Given the description of an element on the screen output the (x, y) to click on. 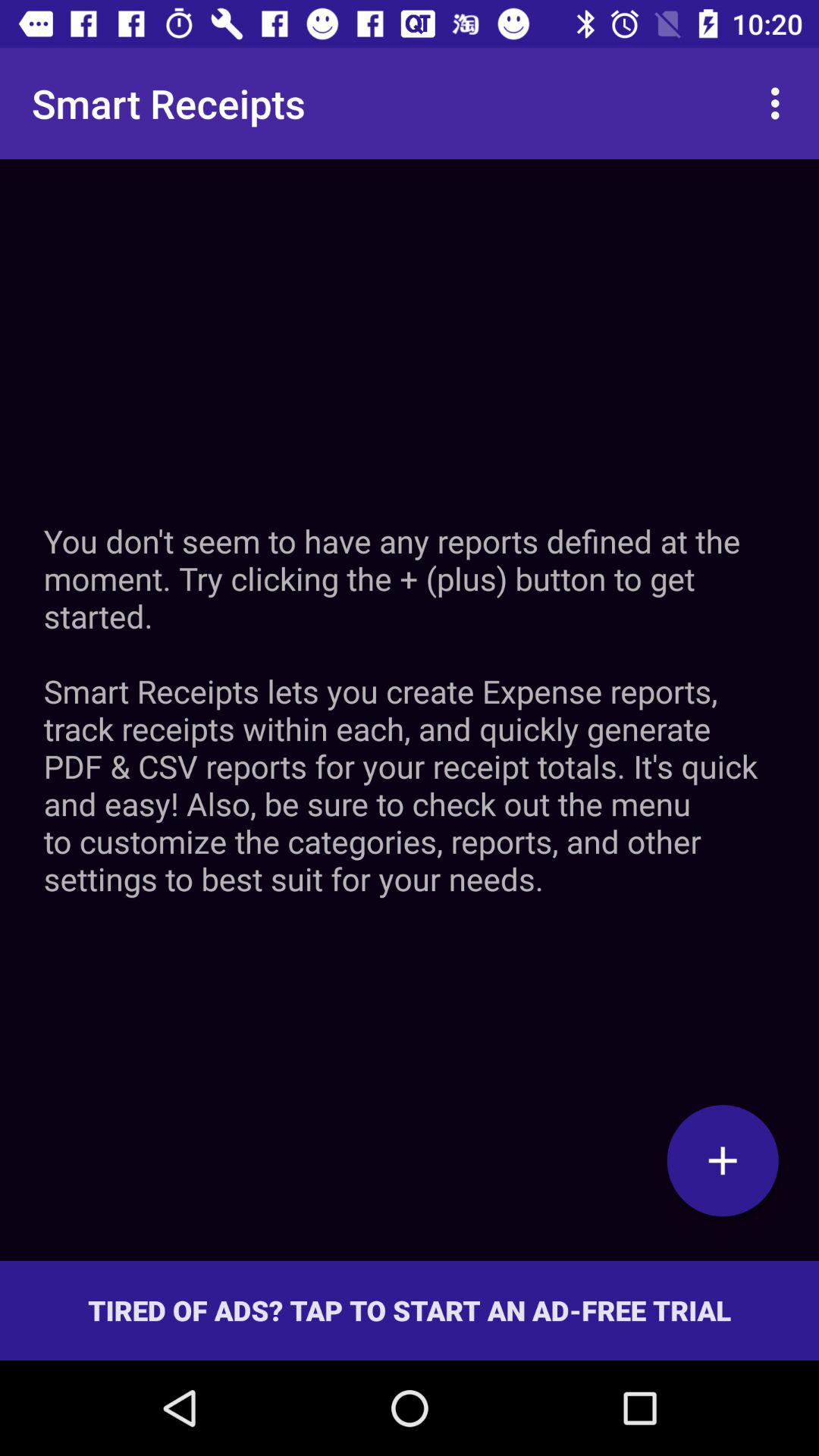
launch item to the right of smart receipts icon (779, 103)
